Given the description of an element on the screen output the (x, y) to click on. 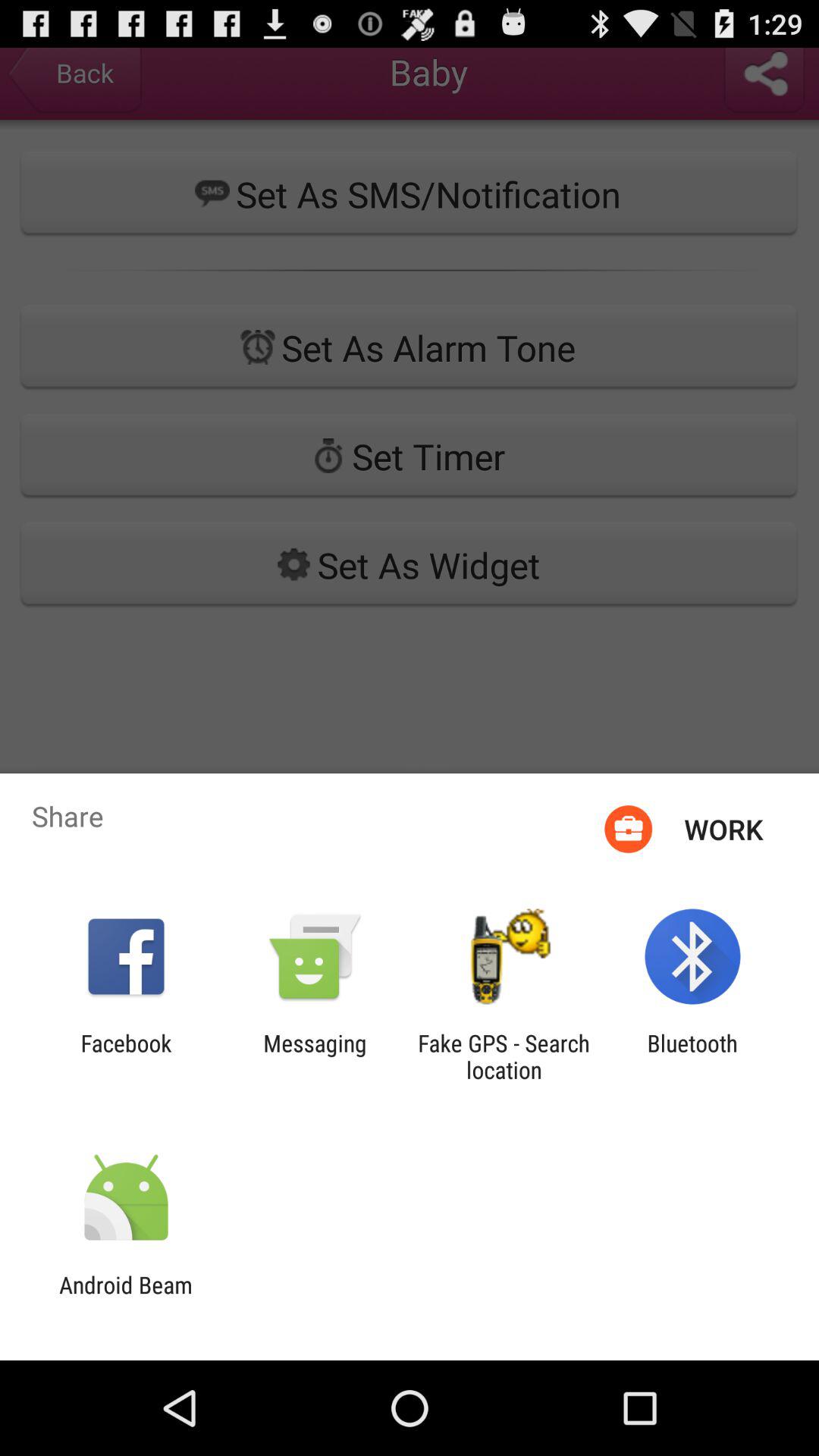
press the bluetooth at the bottom right corner (692, 1056)
